Given the description of an element on the screen output the (x, y) to click on. 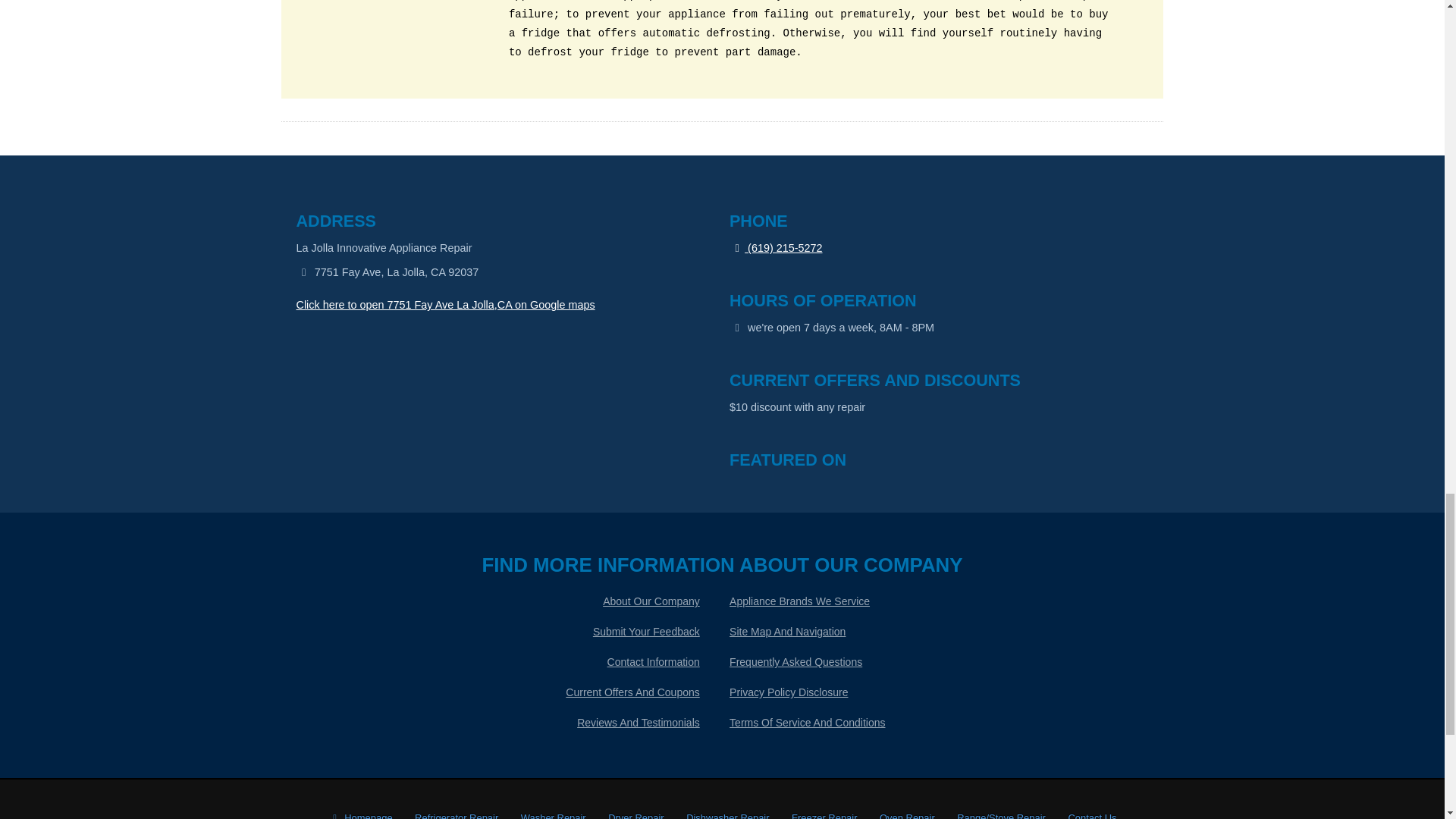
Click here to open 7751 Fay Ave La Jolla,CA on Google maps (444, 304)
